Given the description of an element on the screen output the (x, y) to click on. 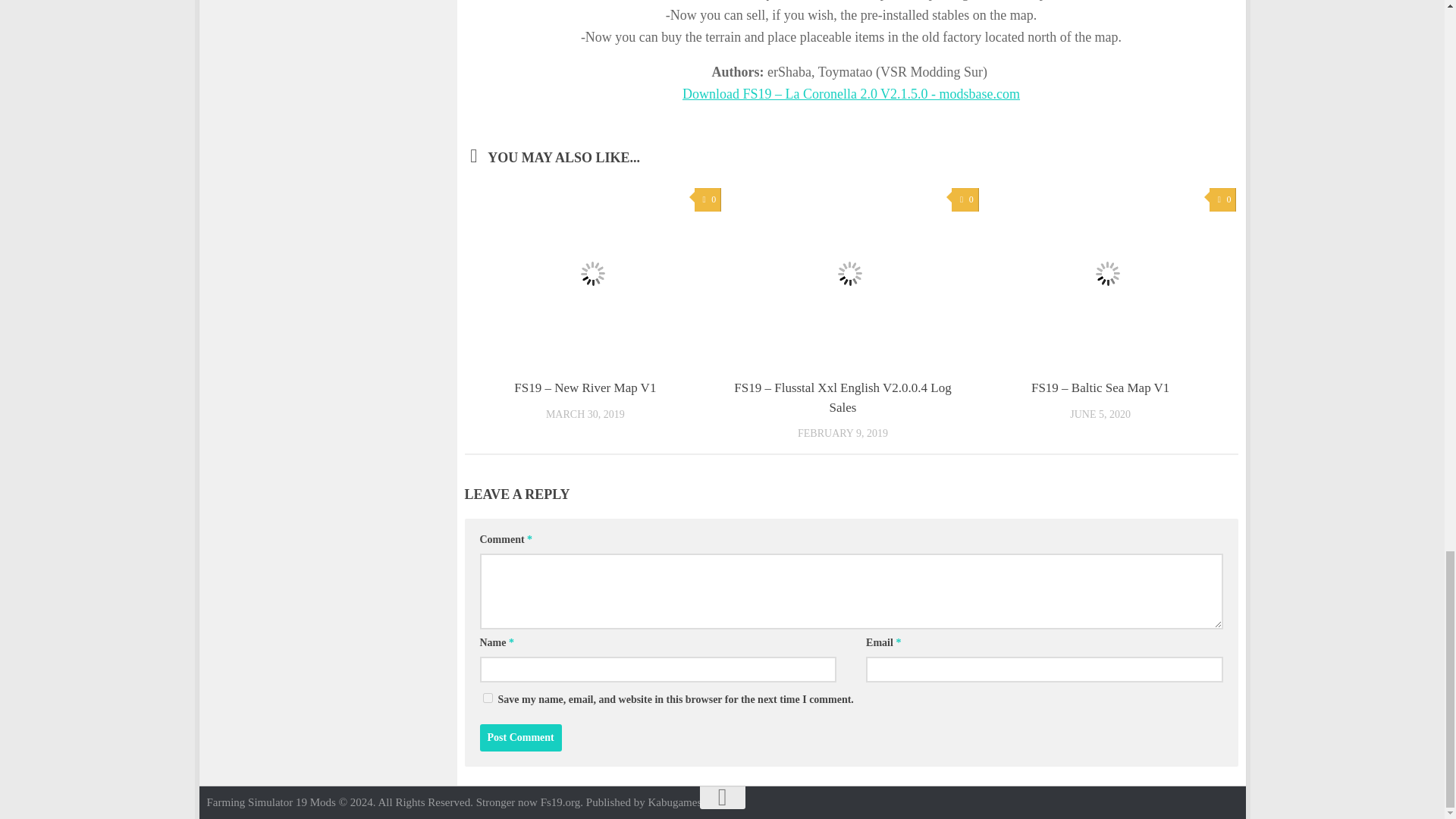
Post Comment (519, 737)
yes (486, 697)
